Given the description of an element on the screen output the (x, y) to click on. 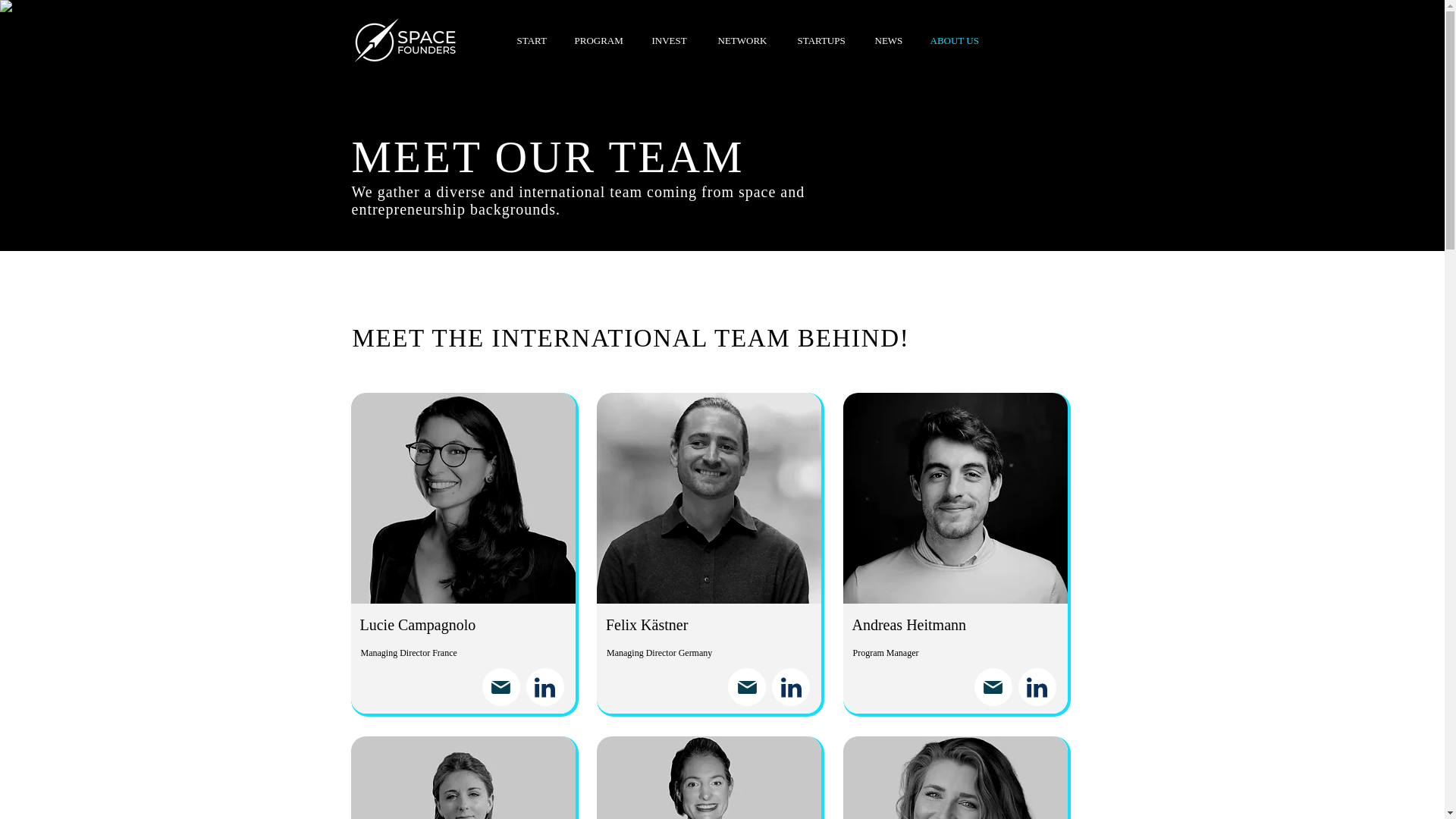
Anais.jpg (462, 777)
PROGRAM (601, 40)
NEWS (890, 40)
ABOUT US (957, 40)
Andreas Heitmann.jpeg (955, 498)
START (533, 40)
Nadine.jpg (955, 777)
Lucie.jpg (462, 498)
INVEST (673, 40)
STARTUPS (824, 40)
